Given the description of an element on the screen output the (x, y) to click on. 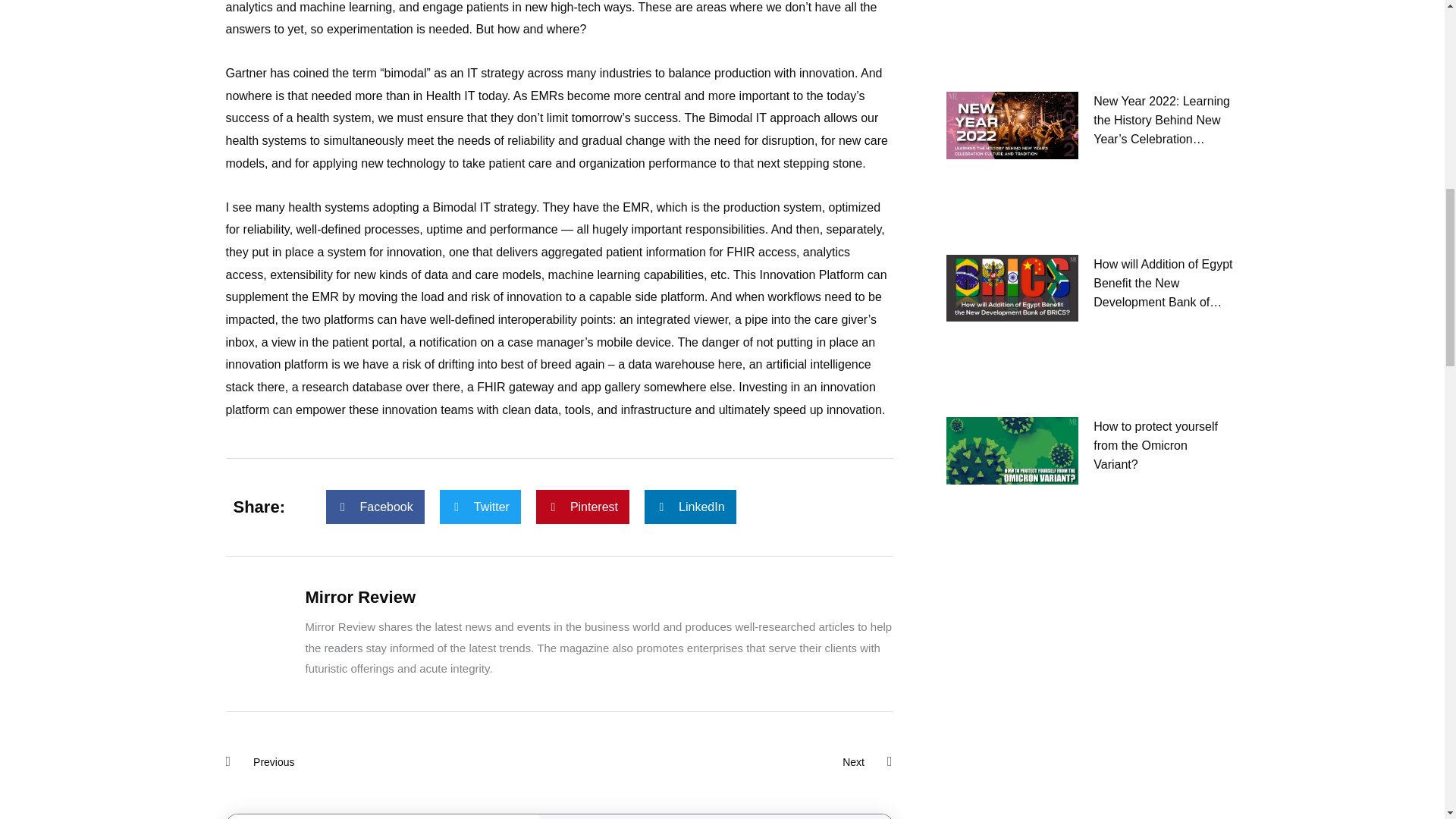
How to protect yourself from the Omicron Variant? (392, 762)
